Given the description of an element on the screen output the (x, y) to click on. 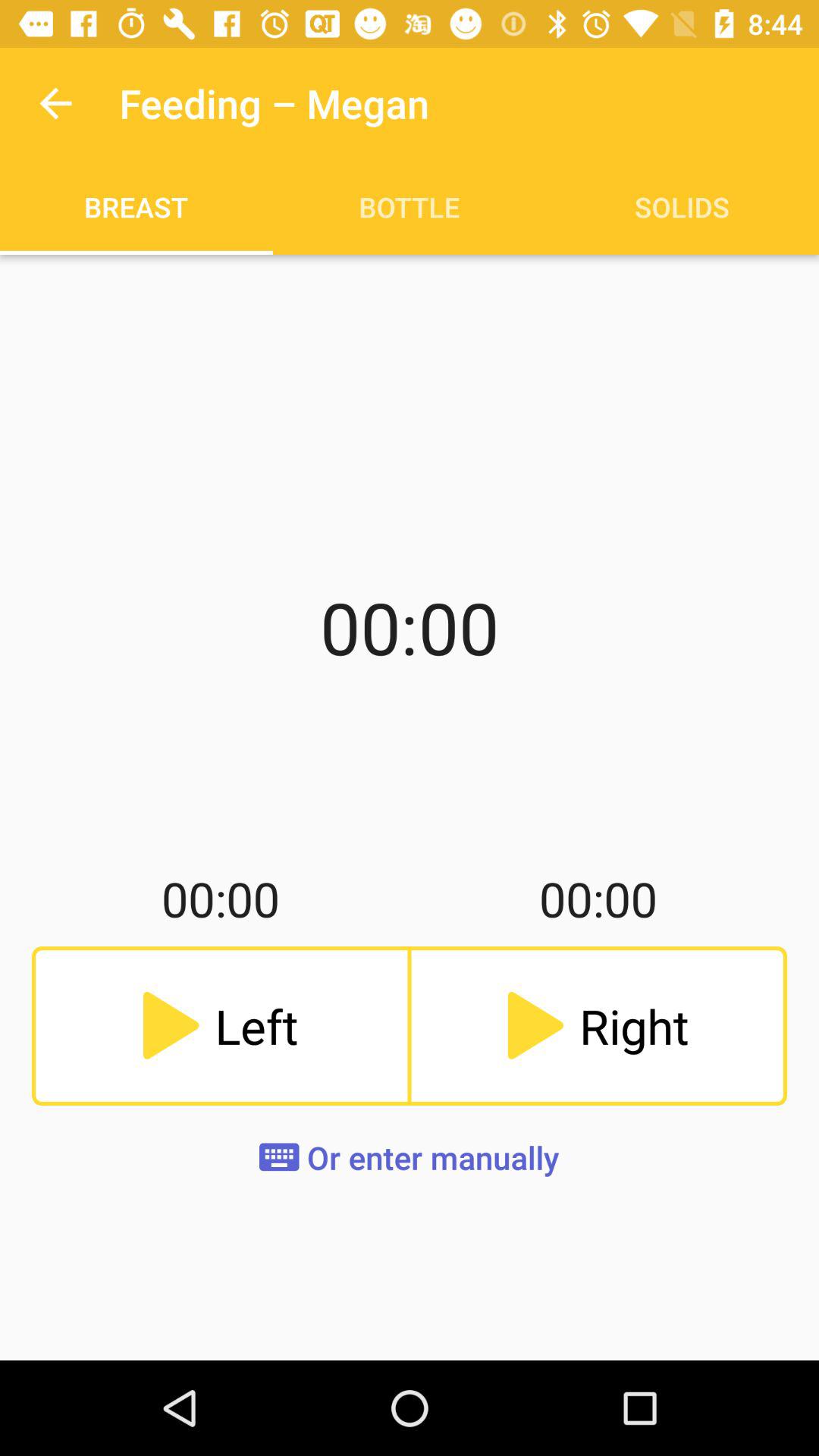
click the item above breast item (55, 103)
